Given the description of an element on the screen output the (x, y) to click on. 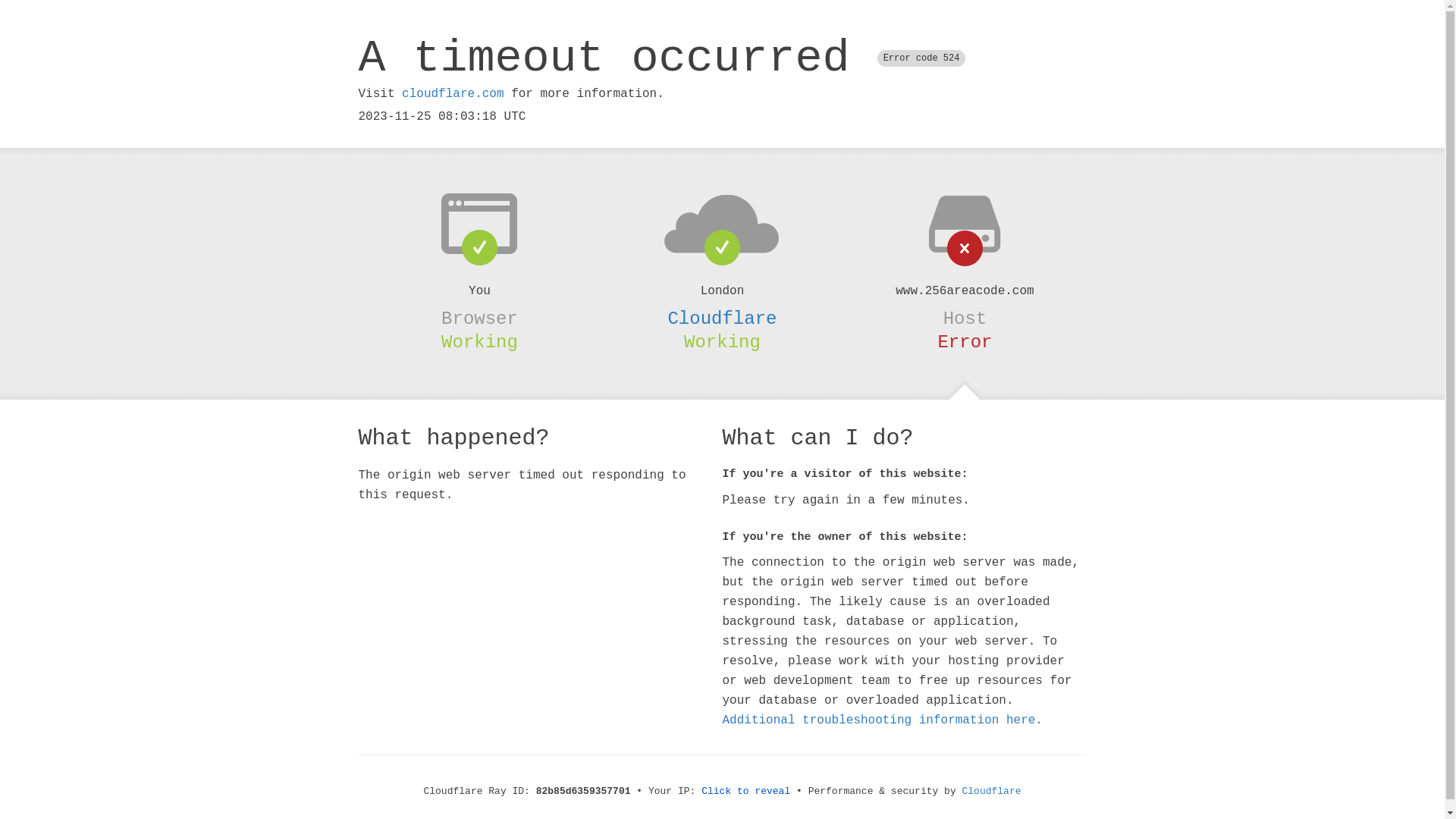
cloudflare.com Element type: text (452, 93)
Cloudflare Element type: text (721, 318)
Additional troubleshooting information here. Element type: text (881, 720)
Cloudflare Element type: text (991, 791)
Click to reveal Element type: text (745, 791)
